Given the description of an element on the screen output the (x, y) to click on. 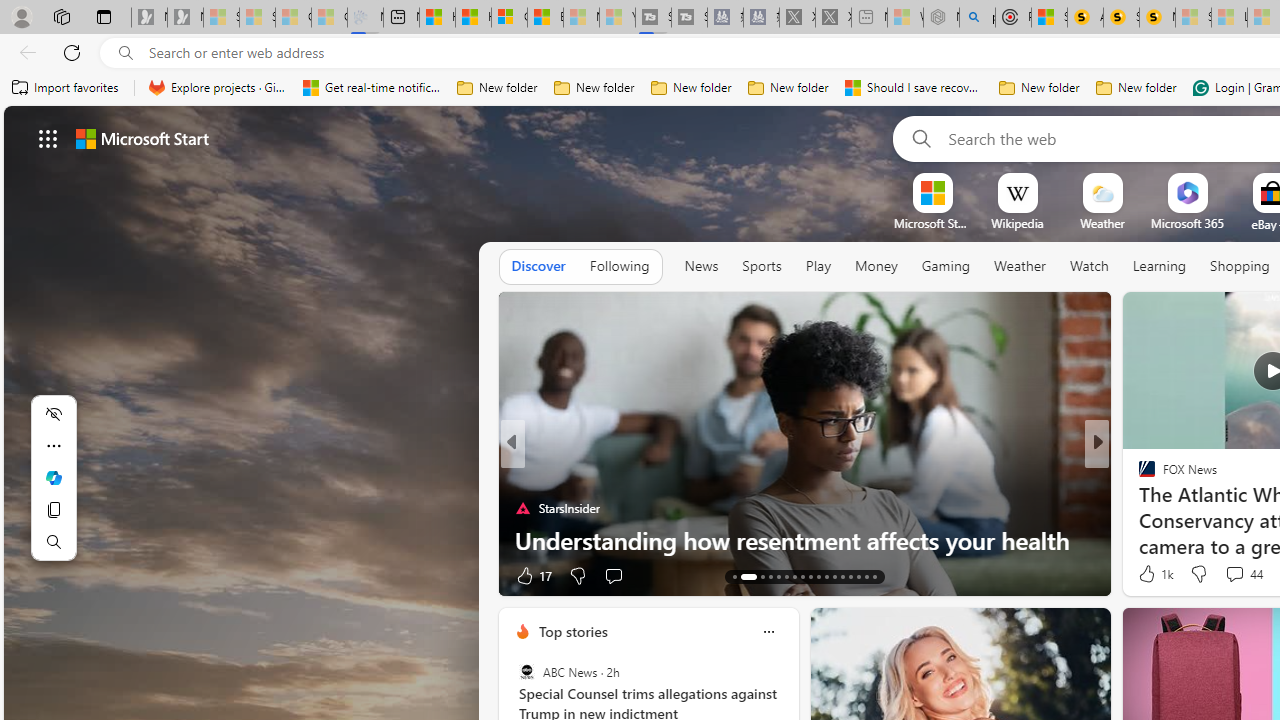
The Kanso (1138, 475)
Weather (1020, 265)
View comments 3 Comment (1234, 574)
Class: icon-img (768, 632)
Money (875, 265)
ABC News (526, 672)
Wikipedia (1017, 223)
AutomationID: tab-14 (742, 576)
USA TODAY (1138, 475)
AutomationID: tab-27 (857, 576)
Hide menu (53, 413)
To get missing image descriptions, open the context menu. (932, 192)
79 Like (1149, 574)
